Given the description of an element on the screen output the (x, y) to click on. 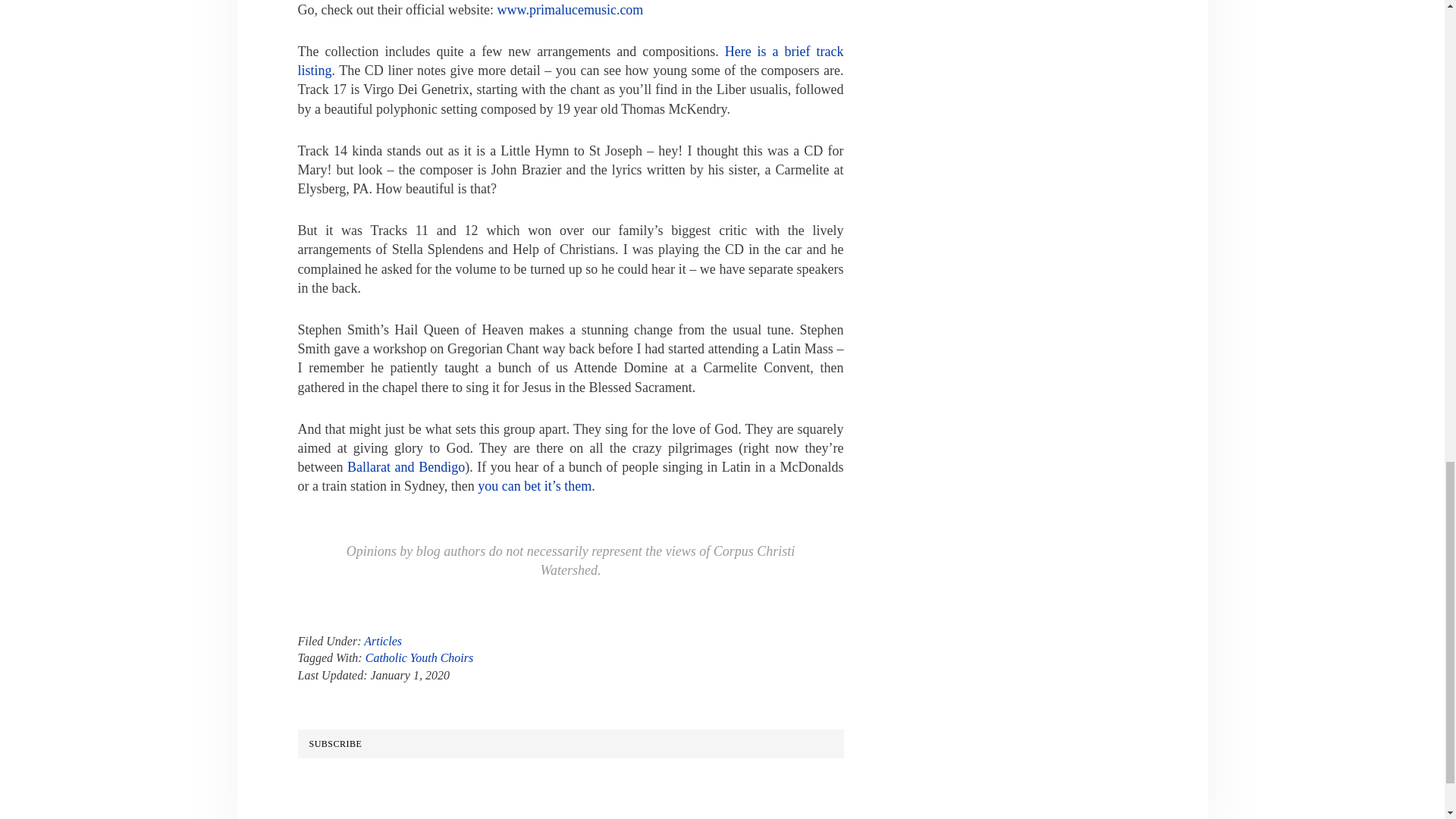
Ballarat and Bendigo (405, 467)
Here is a brief track listing (570, 60)
www.primalucemusic.com (570, 9)
